Given the description of an element on the screen output the (x, y) to click on. 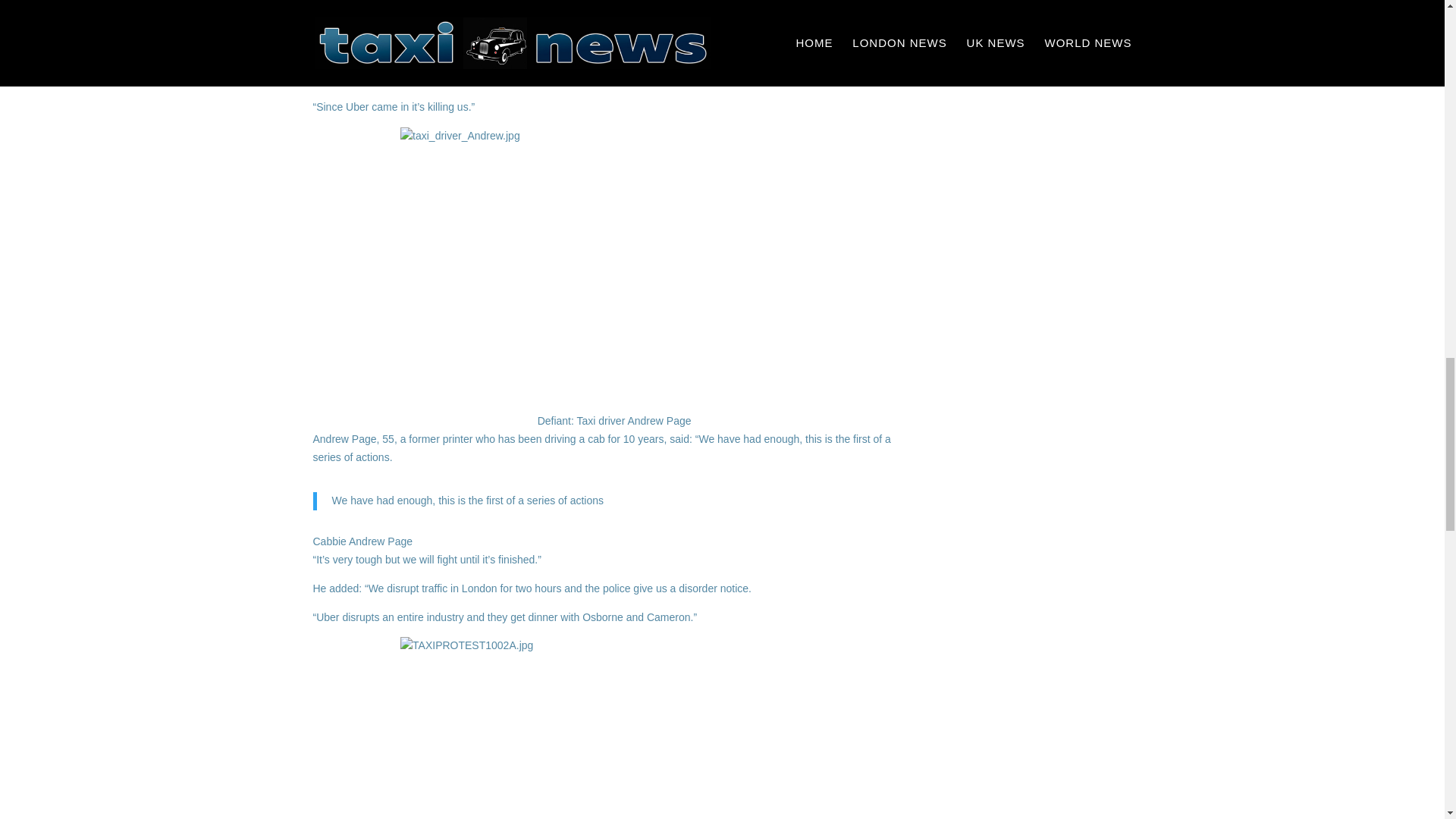
TAXIPROTEST1002A.jpg (614, 728)
